Given the description of an element on the screen output the (x, y) to click on. 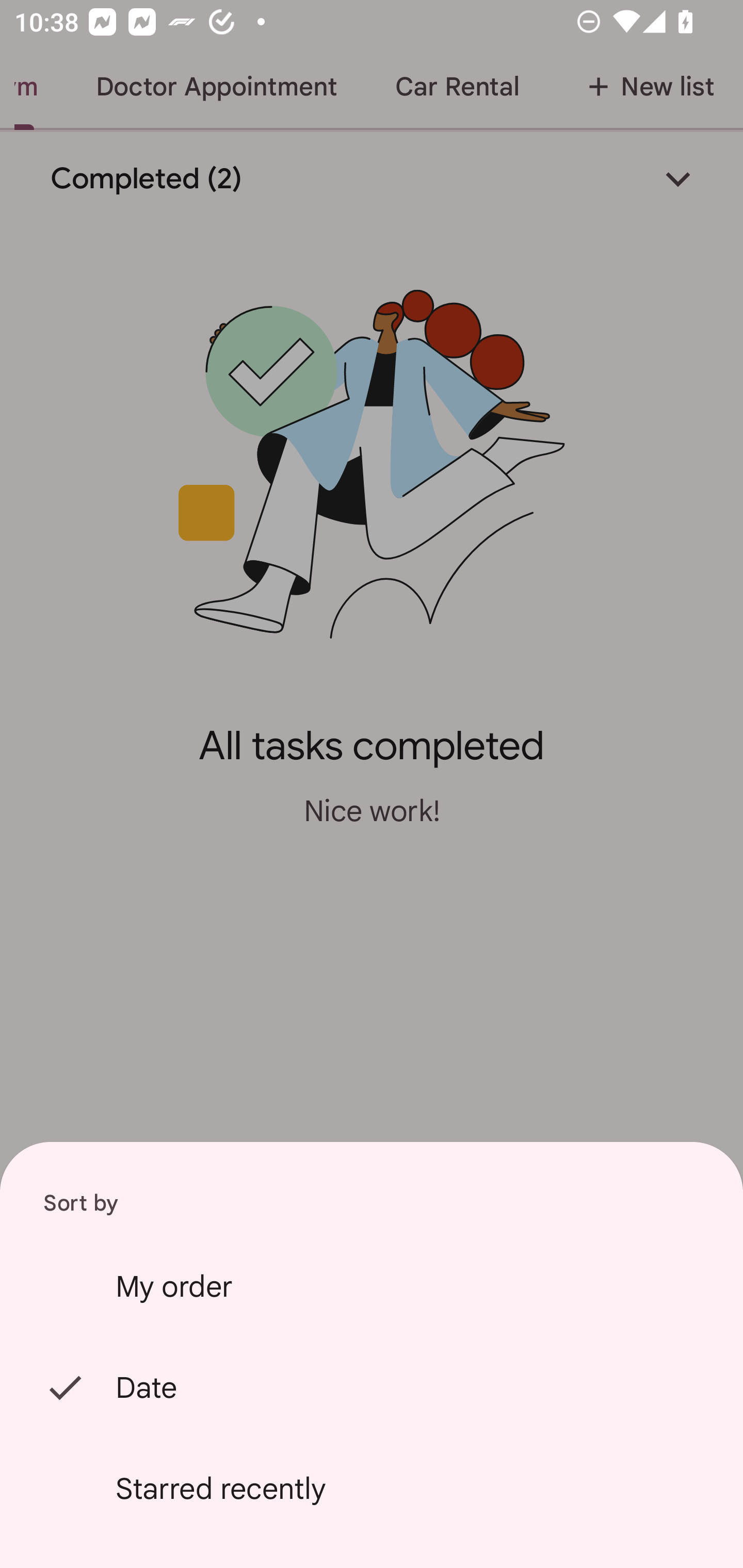
My order (371, 1286)
Date (371, 1387)
Starred recently (371, 1488)
